Given the description of an element on the screen output the (x, y) to click on. 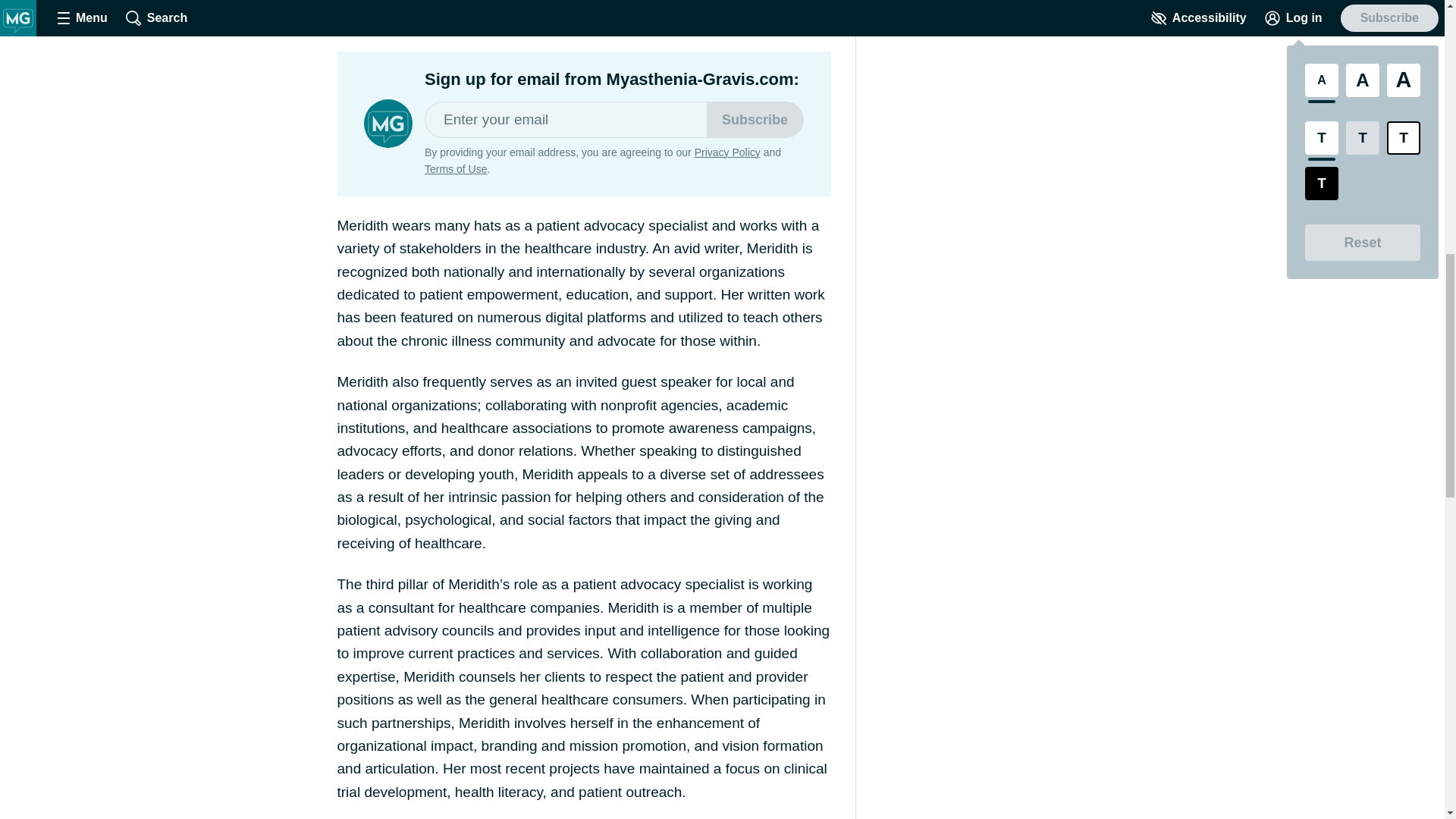
Terms of Use (455, 168)
Subscribe (754, 119)
Privacy Policy (727, 152)
